Given the description of an element on the screen output the (x, y) to click on. 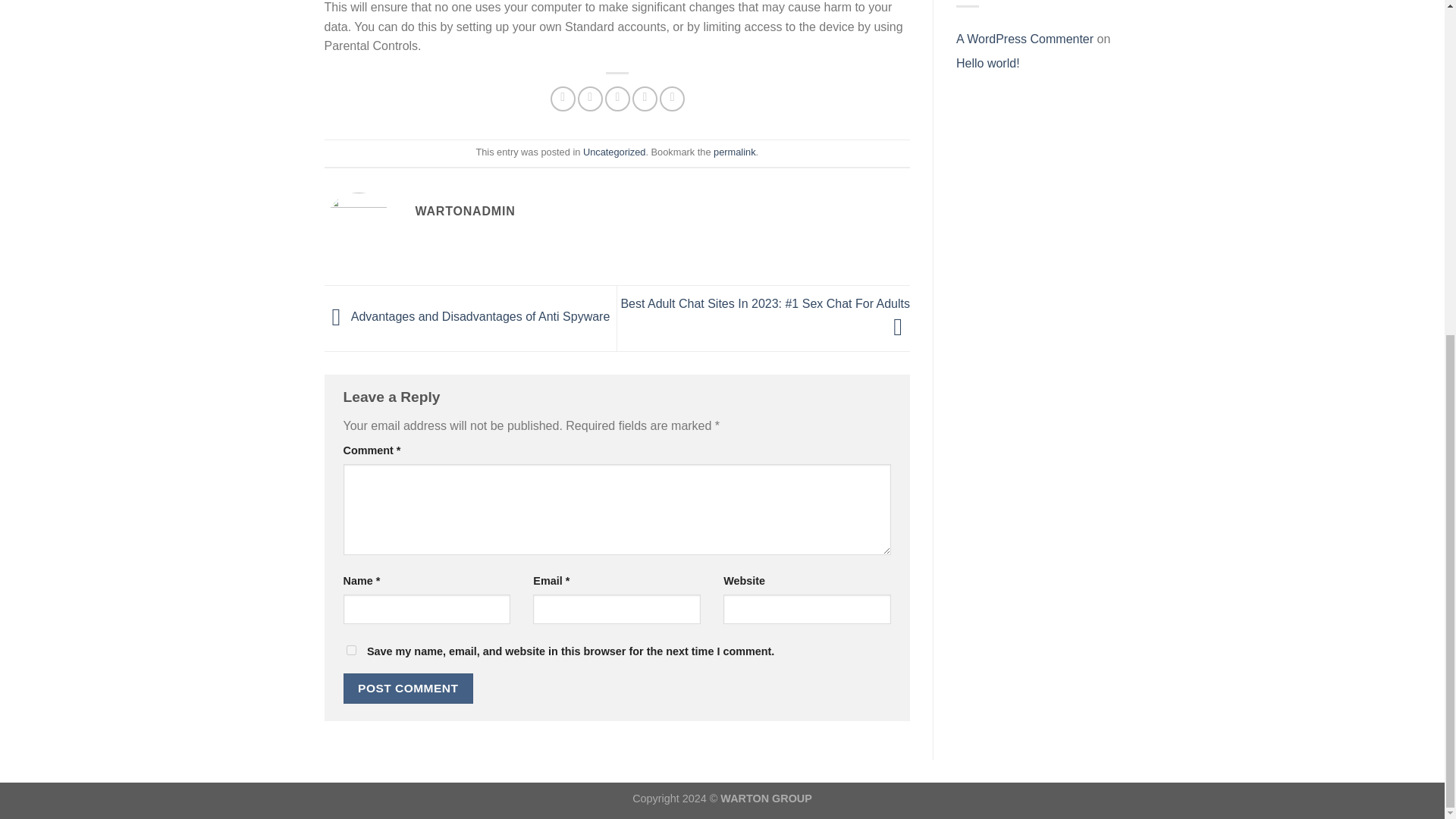
Advantages and Disadvantages of Anti Spyware (467, 317)
Uncategorized (614, 152)
Share on Facebook (562, 98)
Post Comment (407, 687)
Hello world! (988, 63)
Share on LinkedIn (671, 98)
Post Comment (407, 687)
yes (350, 650)
permalink (734, 152)
